Given the description of an element on the screen output the (x, y) to click on. 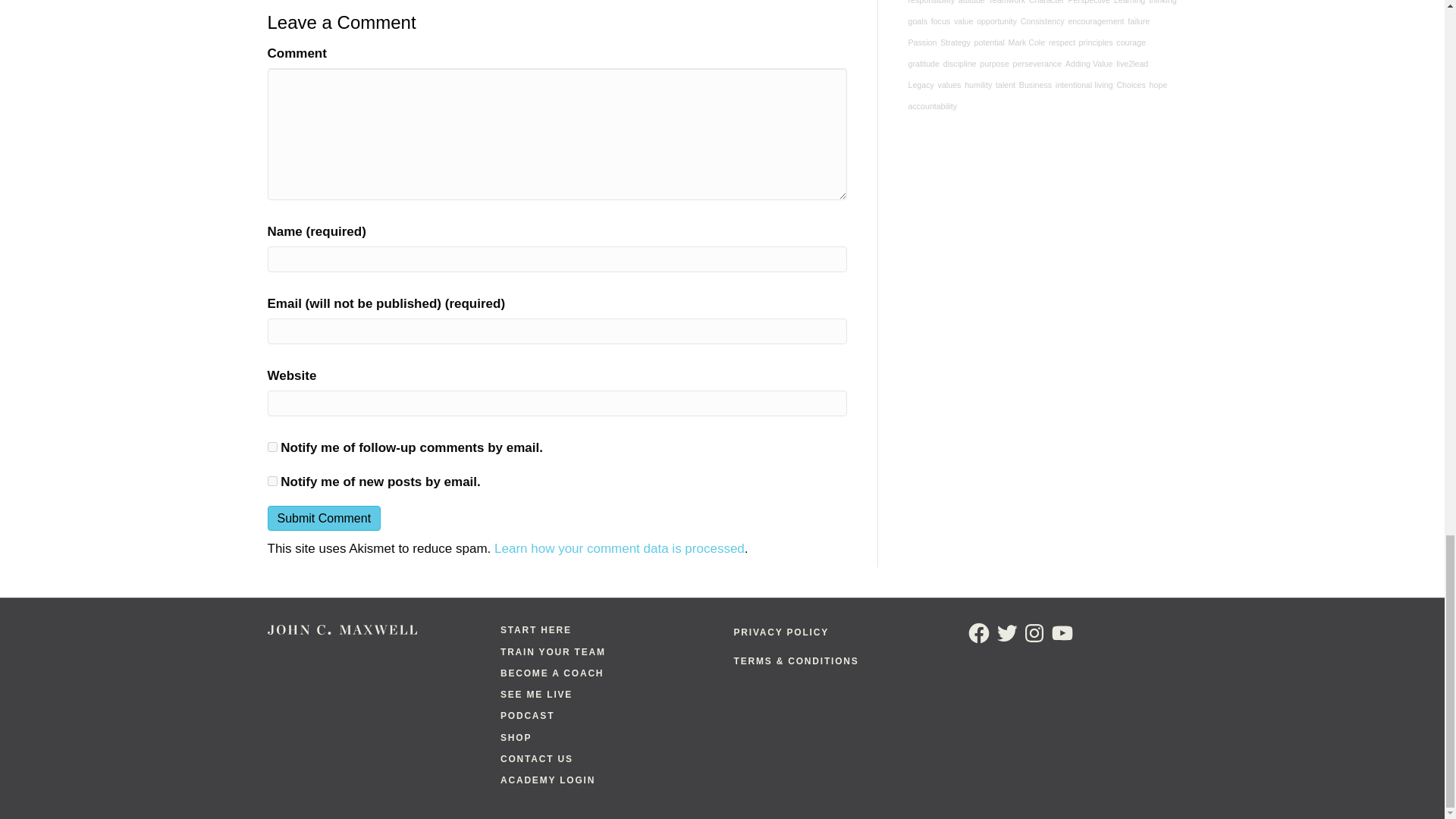
Submit Comment (323, 518)
Learn how your comment data is processed (619, 548)
subscribe (271, 480)
Submit Comment (323, 518)
subscribe (271, 447)
